Given the description of an element on the screen output the (x, y) to click on. 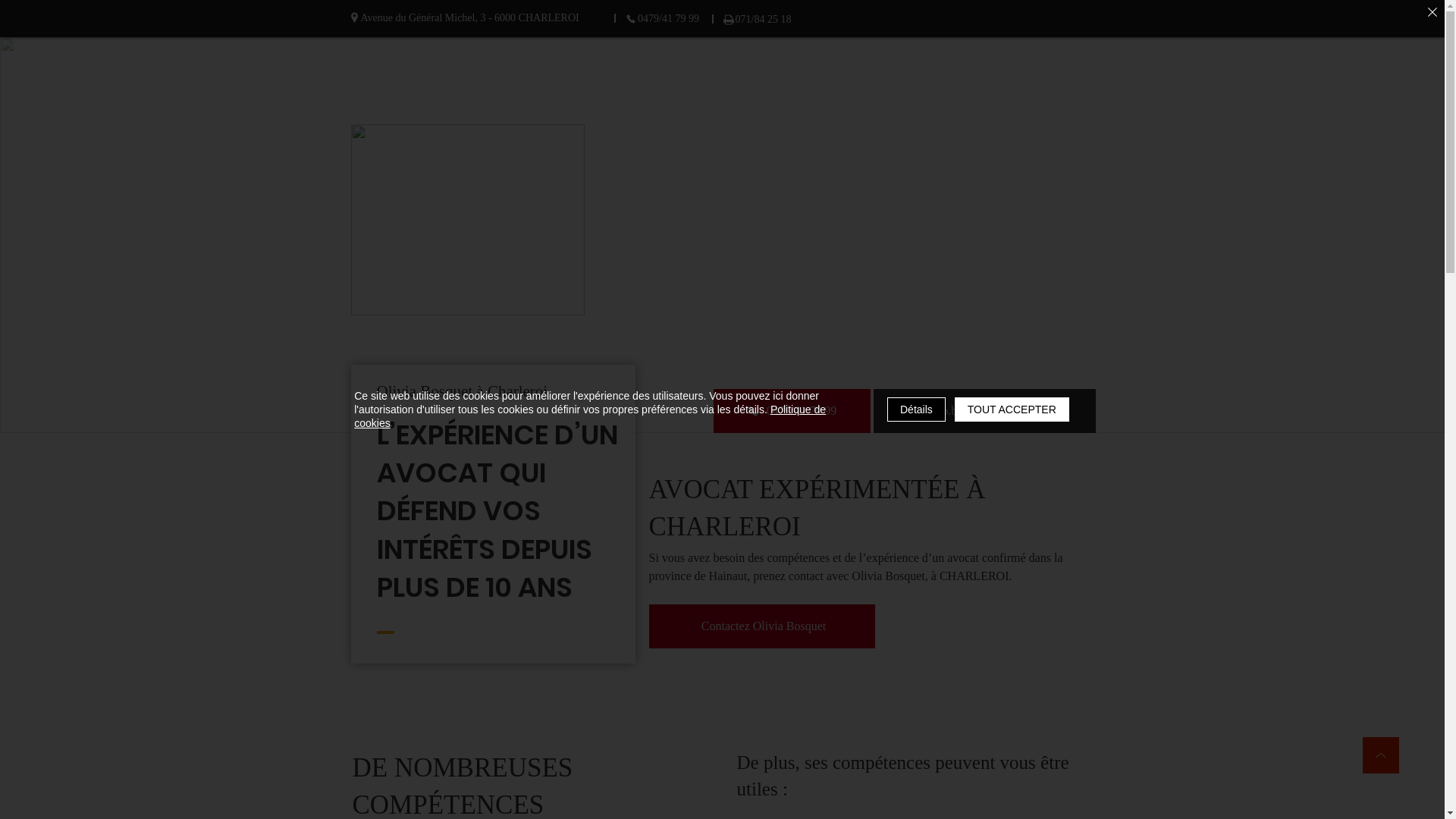
Contactez Olivia Bosquet Element type: text (762, 626)
0479/41 79 99 Element type: text (662, 18)
071/84 25 18 Element type: text (756, 19)
0479/41 79 99 Element type: text (790, 411)
o.bosquet@avocat.be Element type: text (984, 411)
